Given the description of an element on the screen output the (x, y) to click on. 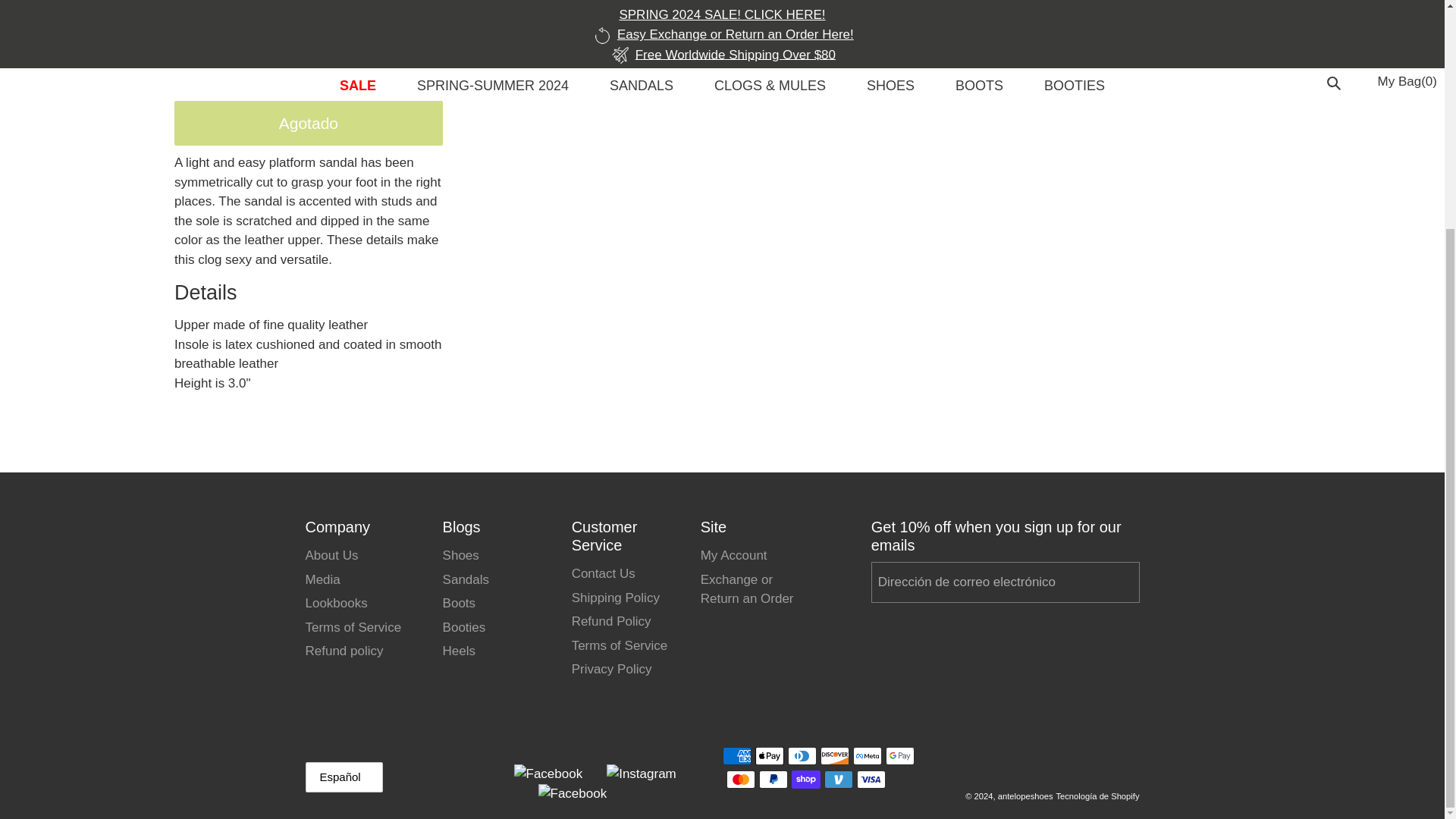
1 (204, 72)
